Given the description of an element on the screen output the (x, y) to click on. 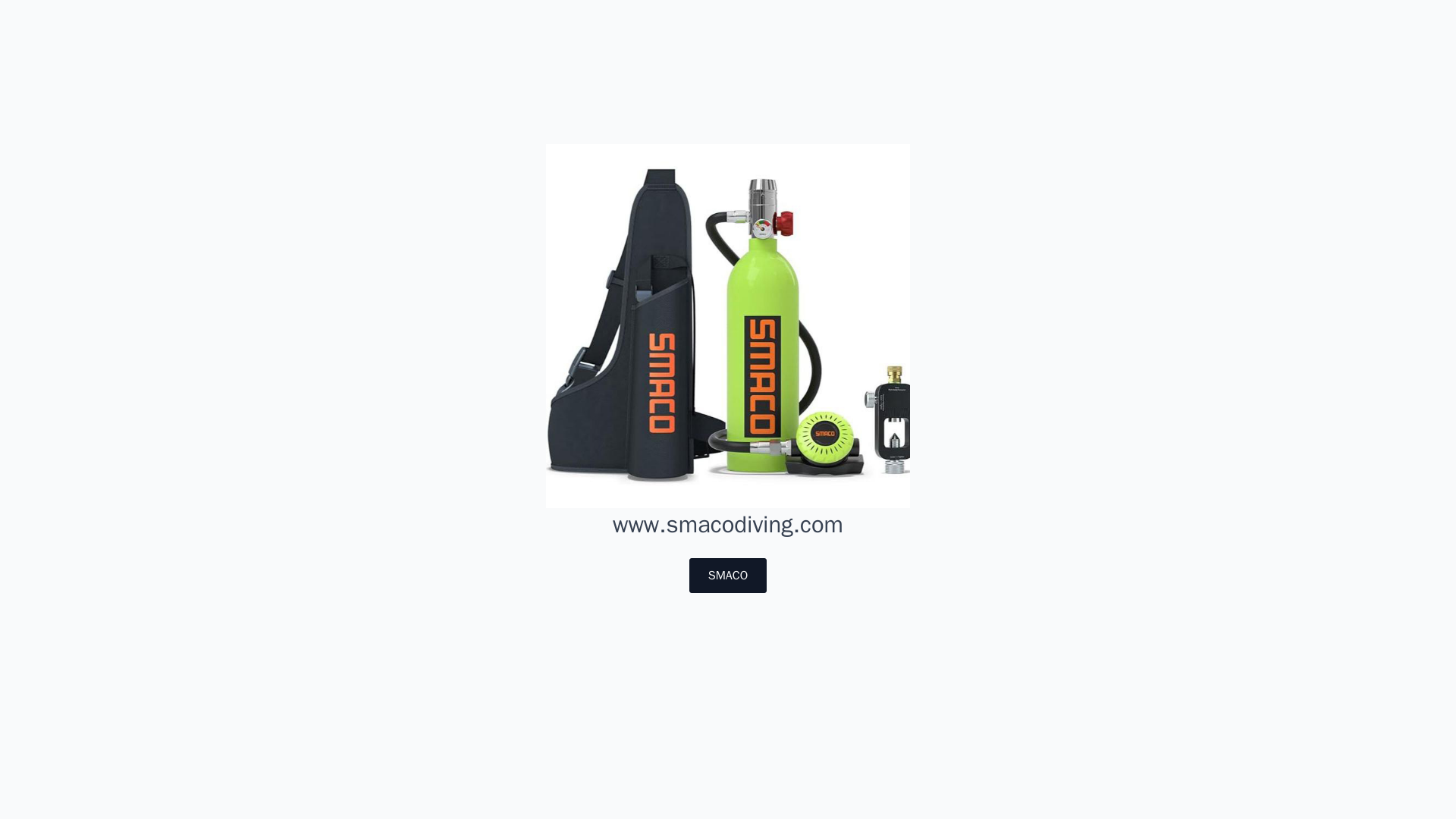
SMACO (727, 574)
